Given the description of an element on the screen output the (x, y) to click on. 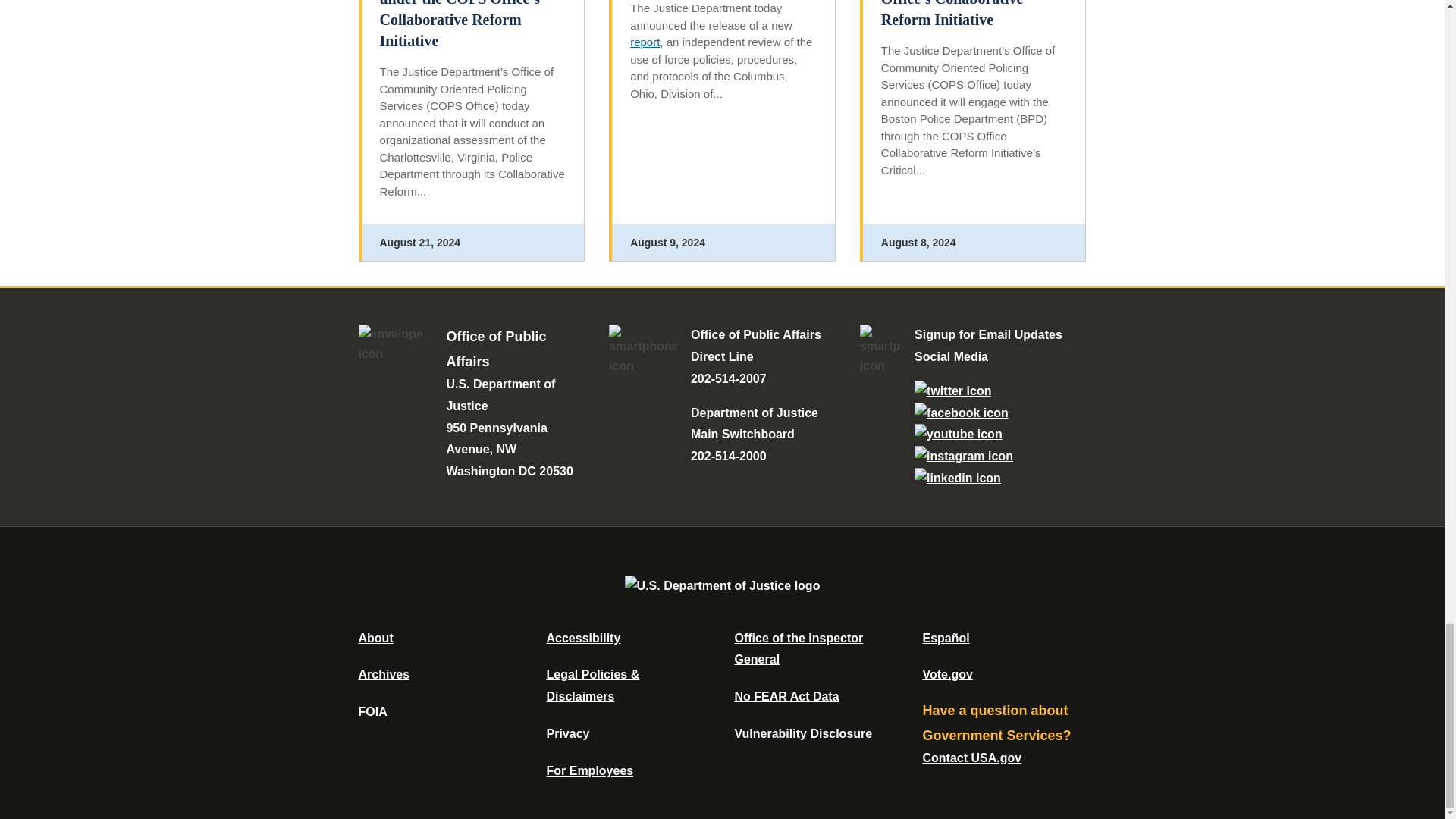
For Employees (589, 770)
Department of Justice Archive (383, 674)
Accessibility Statement (583, 637)
Legal Policies and Disclaimers (592, 685)
About DOJ (375, 637)
Office of Information Policy (372, 711)
Data Posted Pursuant To The No Fear Act (785, 696)
